Given the description of an element on the screen output the (x, y) to click on. 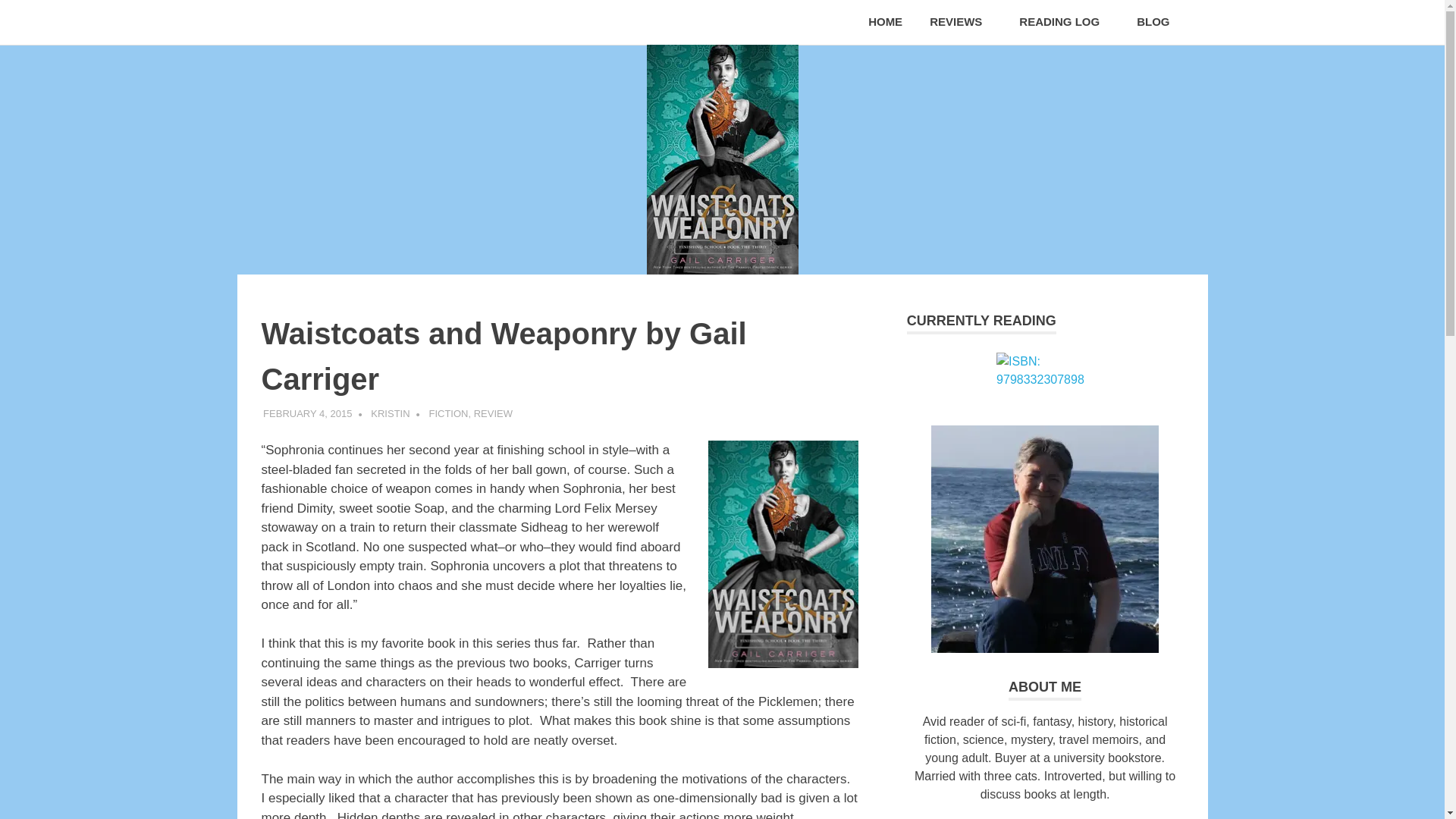
KRISTIN (390, 413)
View all posts by Kristin (390, 413)
REVIEWS (960, 22)
BLOG (1152, 22)
REVIEW (493, 413)
FICTION (447, 413)
2:48 pm (307, 413)
HOME (884, 22)
ISBN: 9798332307898 (1044, 370)
FEBRUARY 4, 2015 (307, 413)
READING LOG (1064, 22)
